Given the description of an element on the screen output the (x, y) to click on. 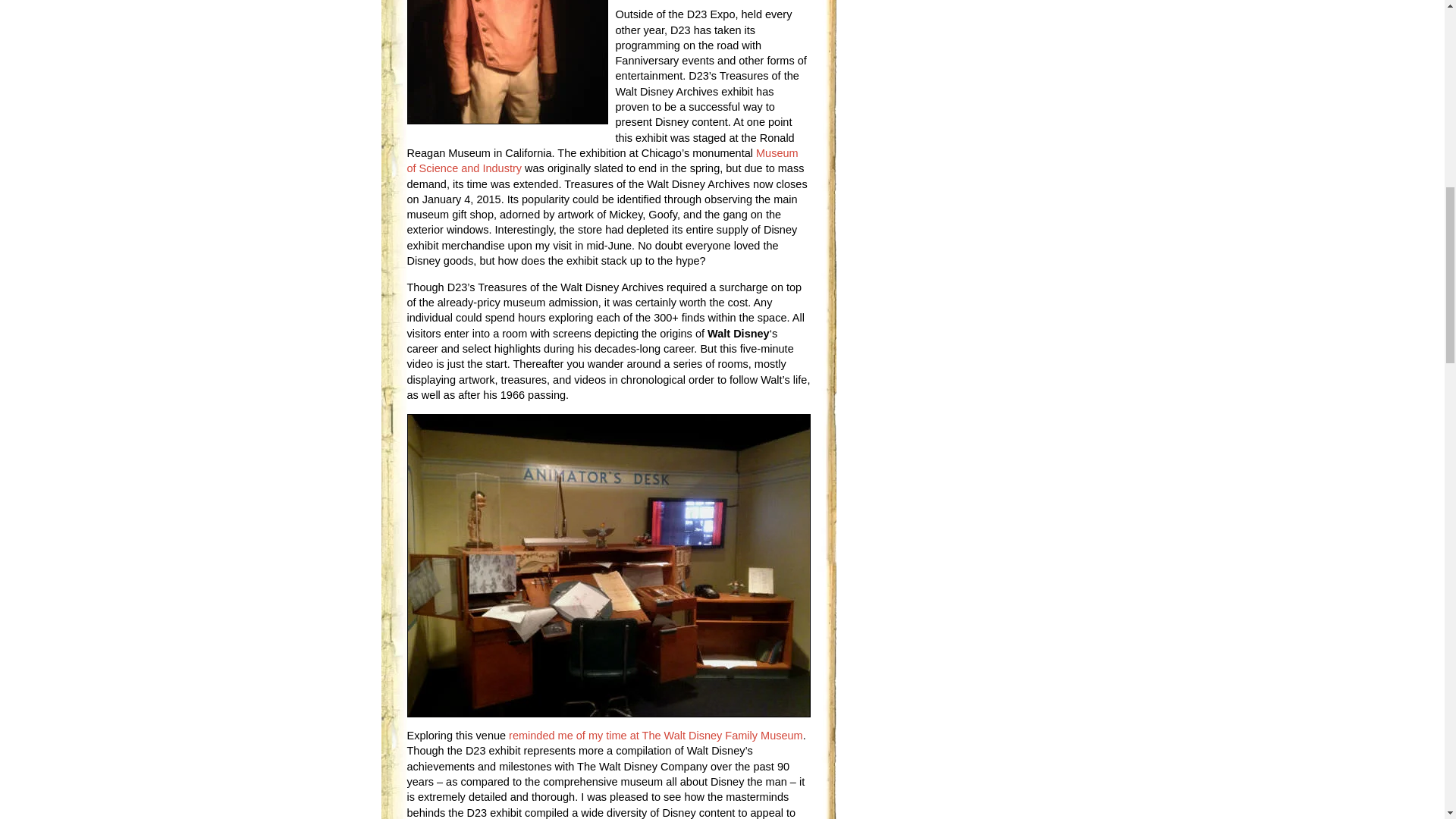
reminded me of my time at The Walt Disney Family Museum (655, 735)
Museum of Science and Industry (601, 160)
